Given the description of an element on the screen output the (x, y) to click on. 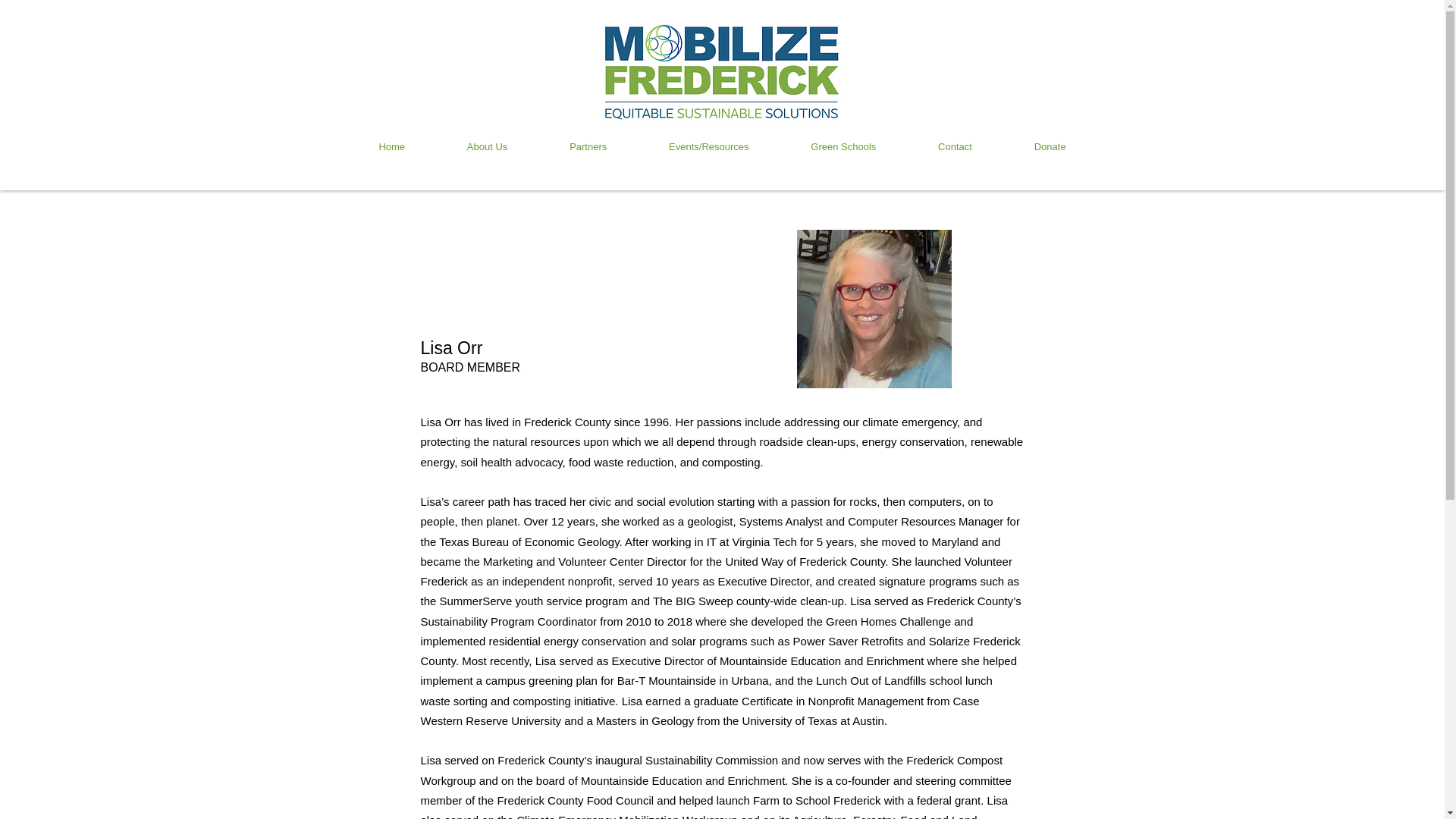
Contact (955, 146)
Home (391, 146)
About Us (487, 146)
Partners (587, 146)
Donate (1050, 146)
